Given the description of an element on the screen output the (x, y) to click on. 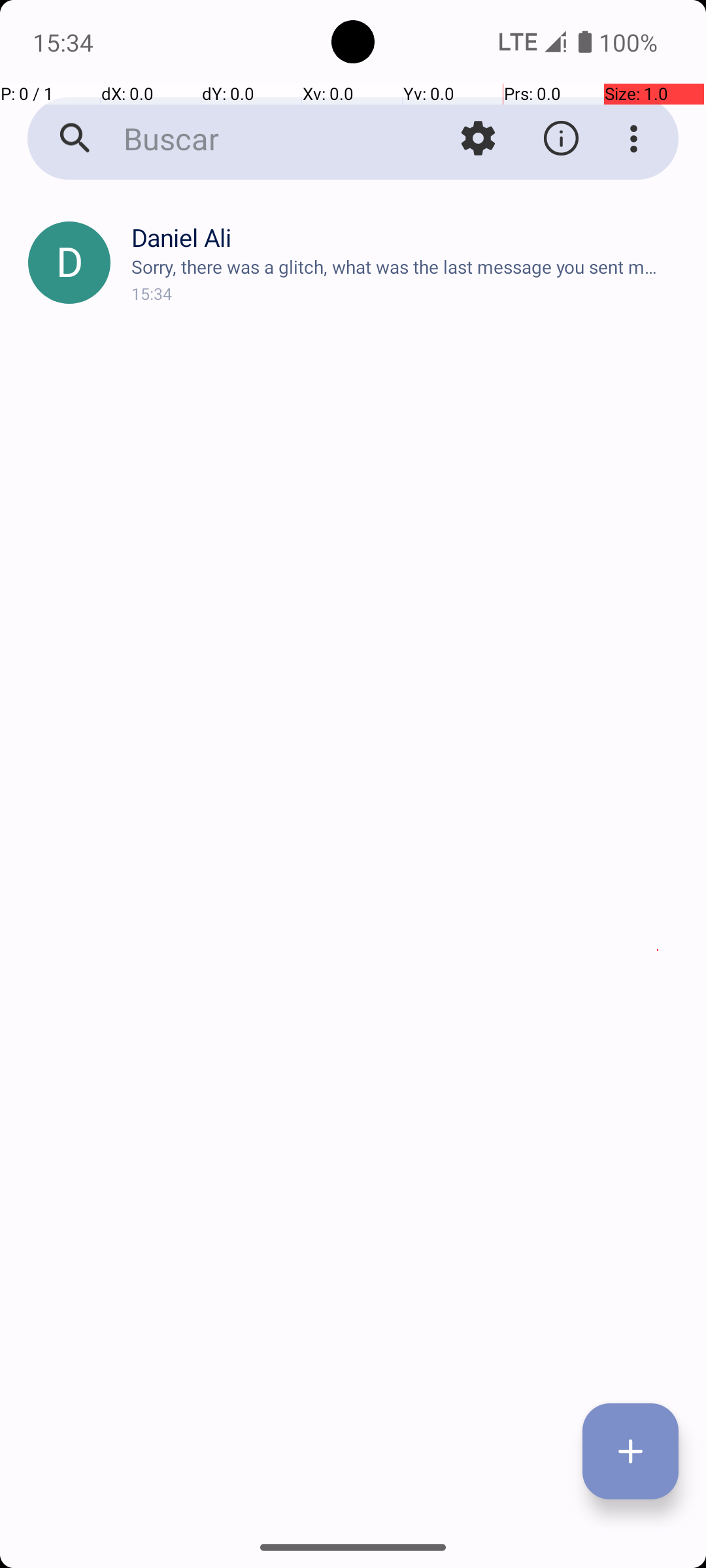
Acerca de Element type: android.widget.Button (560, 138)
Daniel Ali Element type: android.widget.TextView (408, 239)
